Given the description of an element on the screen output the (x, y) to click on. 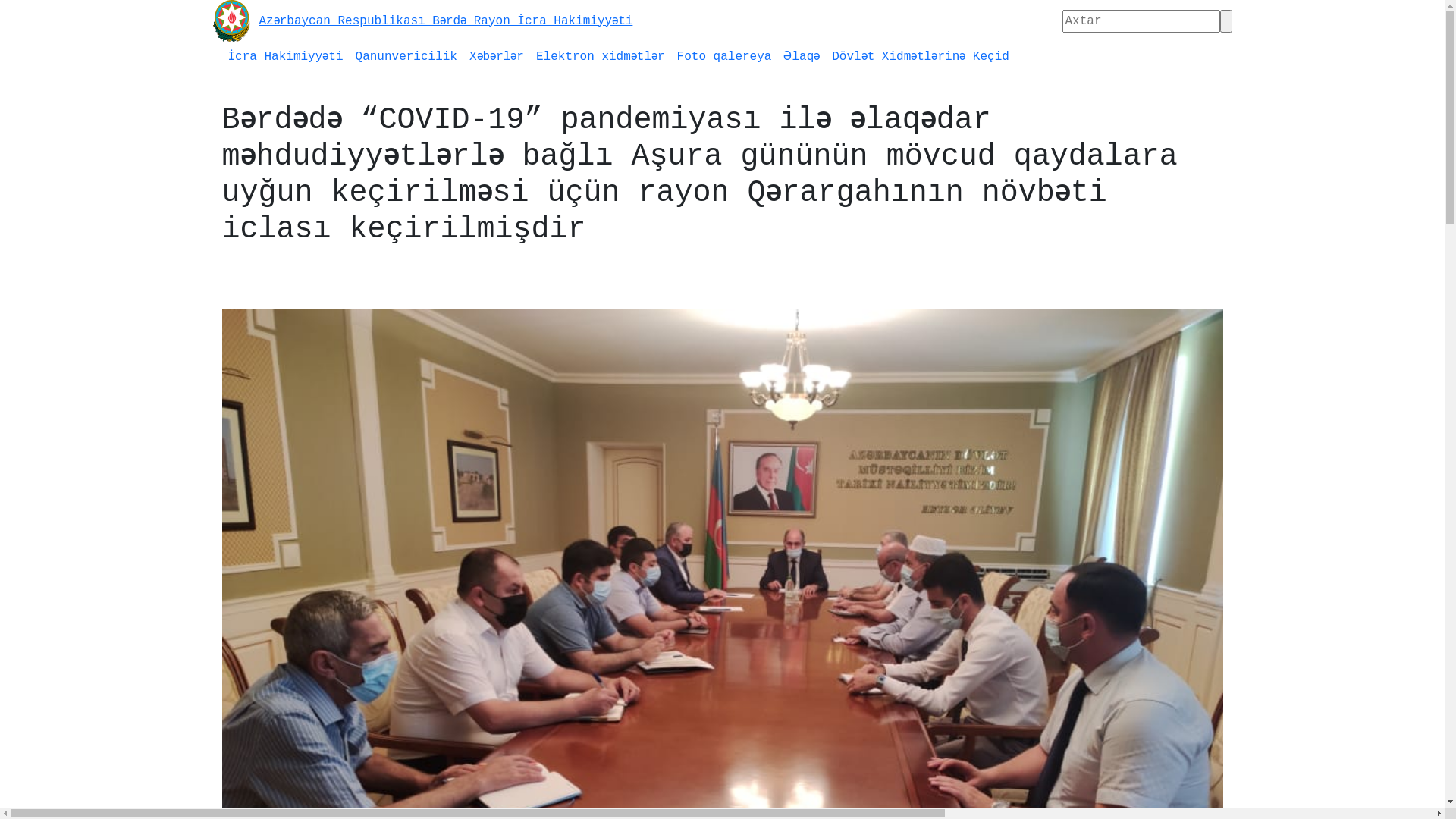
Qanunvericilik Element type: text (406, 56)
Foto qalereya Element type: text (724, 56)
